Given the description of an element on the screen output the (x, y) to click on. 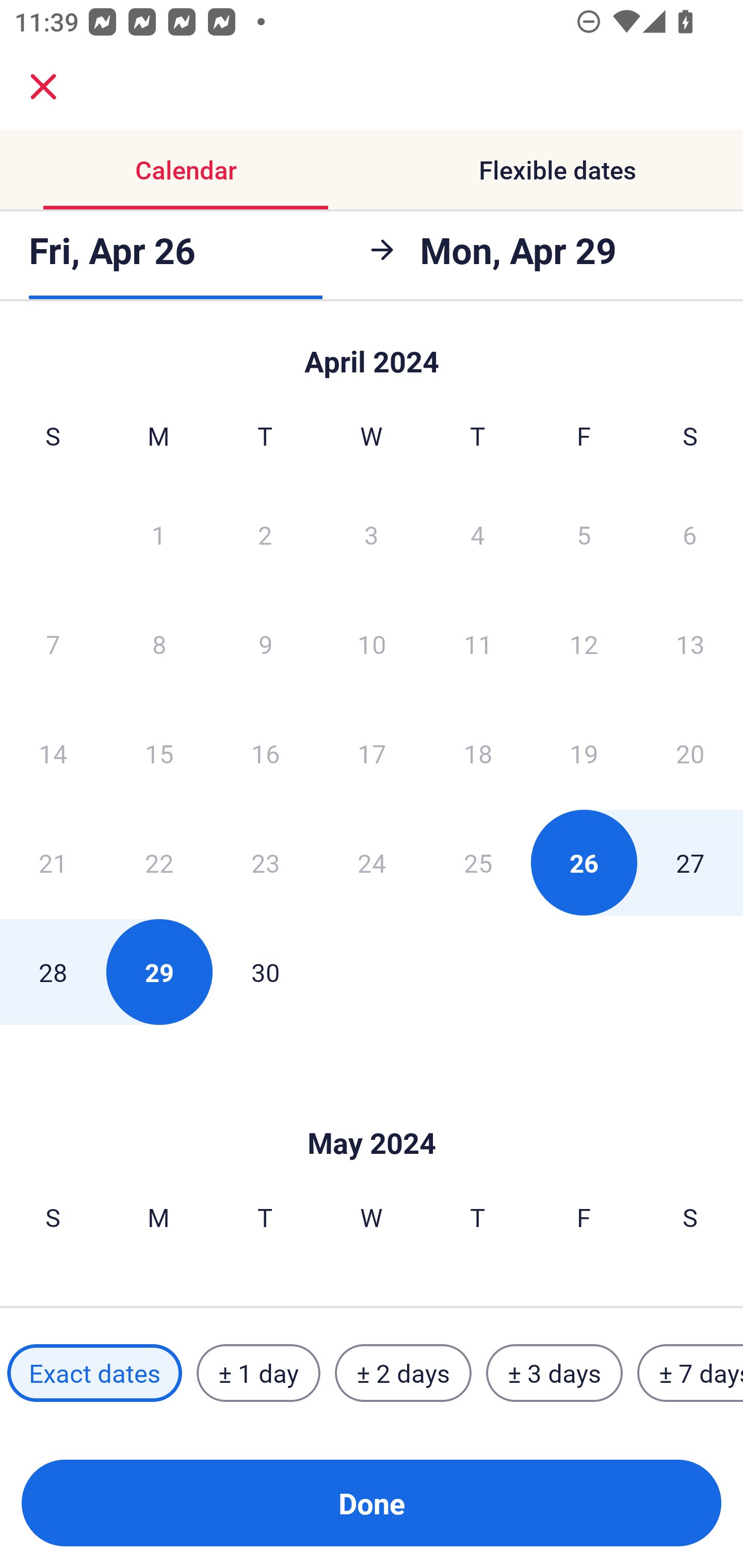
close. (43, 86)
Flexible dates (557, 170)
Skip to Done (371, 352)
1 Monday, April 1, 2024 (158, 534)
2 Tuesday, April 2, 2024 (264, 534)
3 Wednesday, April 3, 2024 (371, 534)
4 Thursday, April 4, 2024 (477, 534)
5 Friday, April 5, 2024 (583, 534)
6 Saturday, April 6, 2024 (689, 534)
7 Sunday, April 7, 2024 (53, 643)
8 Monday, April 8, 2024 (159, 643)
9 Tuesday, April 9, 2024 (265, 643)
10 Wednesday, April 10, 2024 (371, 643)
11 Thursday, April 11, 2024 (477, 643)
12 Friday, April 12, 2024 (584, 643)
13 Saturday, April 13, 2024 (690, 643)
14 Sunday, April 14, 2024 (53, 752)
15 Monday, April 15, 2024 (159, 752)
16 Tuesday, April 16, 2024 (265, 752)
17 Wednesday, April 17, 2024 (371, 752)
18 Thursday, April 18, 2024 (477, 752)
19 Friday, April 19, 2024 (584, 752)
20 Saturday, April 20, 2024 (690, 752)
21 Sunday, April 21, 2024 (53, 862)
22 Monday, April 22, 2024 (159, 862)
23 Tuesday, April 23, 2024 (265, 862)
24 Wednesday, April 24, 2024 (371, 862)
25 Thursday, April 25, 2024 (477, 862)
30 Tuesday, April 30, 2024 (265, 971)
Skip to Done (371, 1112)
± 1 day (258, 1372)
± 2 days (403, 1372)
± 3 days (553, 1372)
± 7 days (690, 1372)
Done (371, 1502)
